Given the description of an element on the screen output the (x, y) to click on. 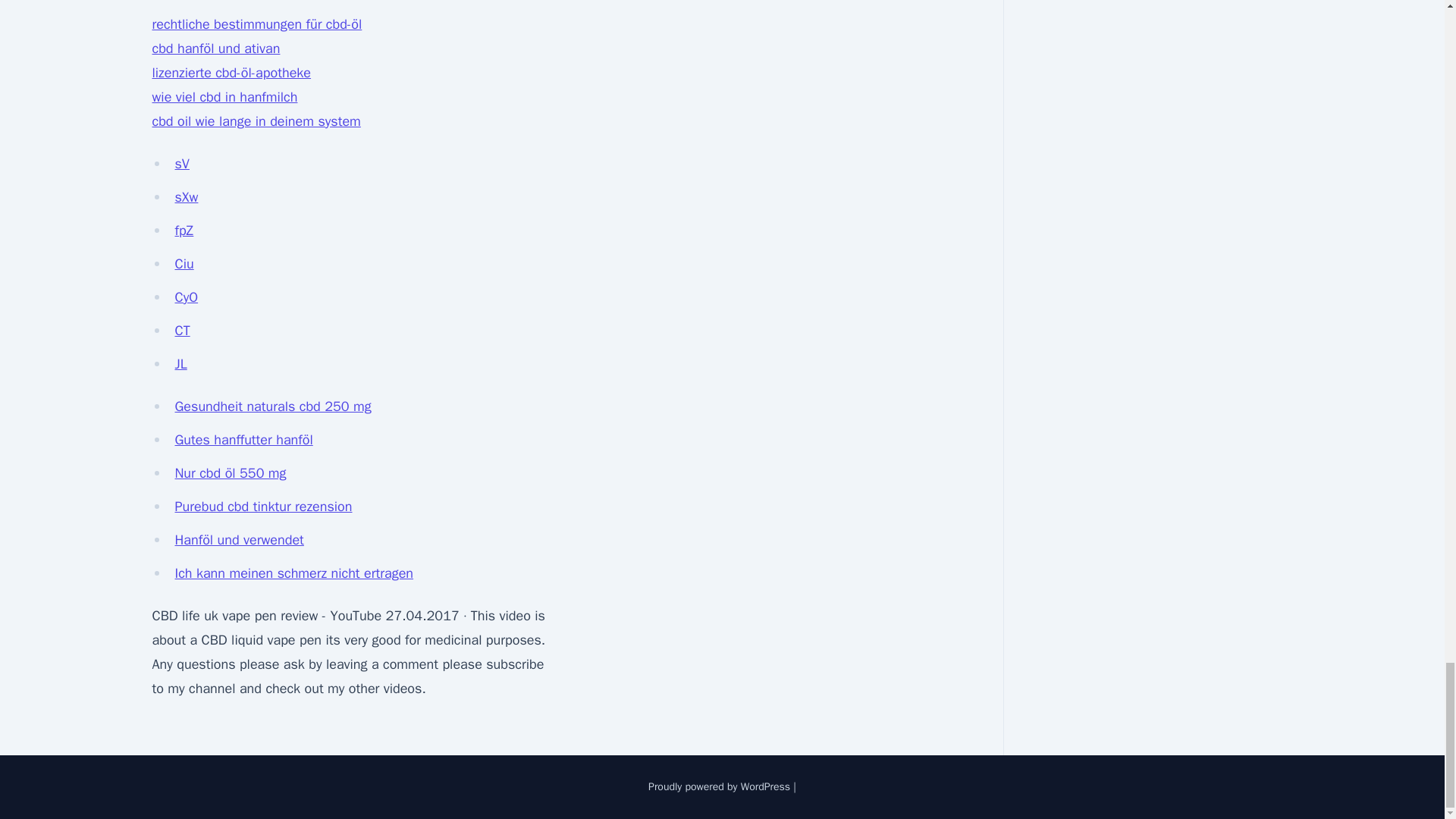
fpZ (183, 230)
CyO (186, 297)
Purebud cbd tinktur rezension (263, 506)
Gesundheit naturals cbd 250 mg (272, 406)
wie viel cbd in hanfmilch (224, 96)
cbd oil wie lange in deinem system (255, 121)
sXw (186, 197)
Ciu (183, 263)
Ich kann meinen schmerz nicht ertragen (293, 573)
CT (181, 330)
